Given the description of an element on the screen output the (x, y) to click on. 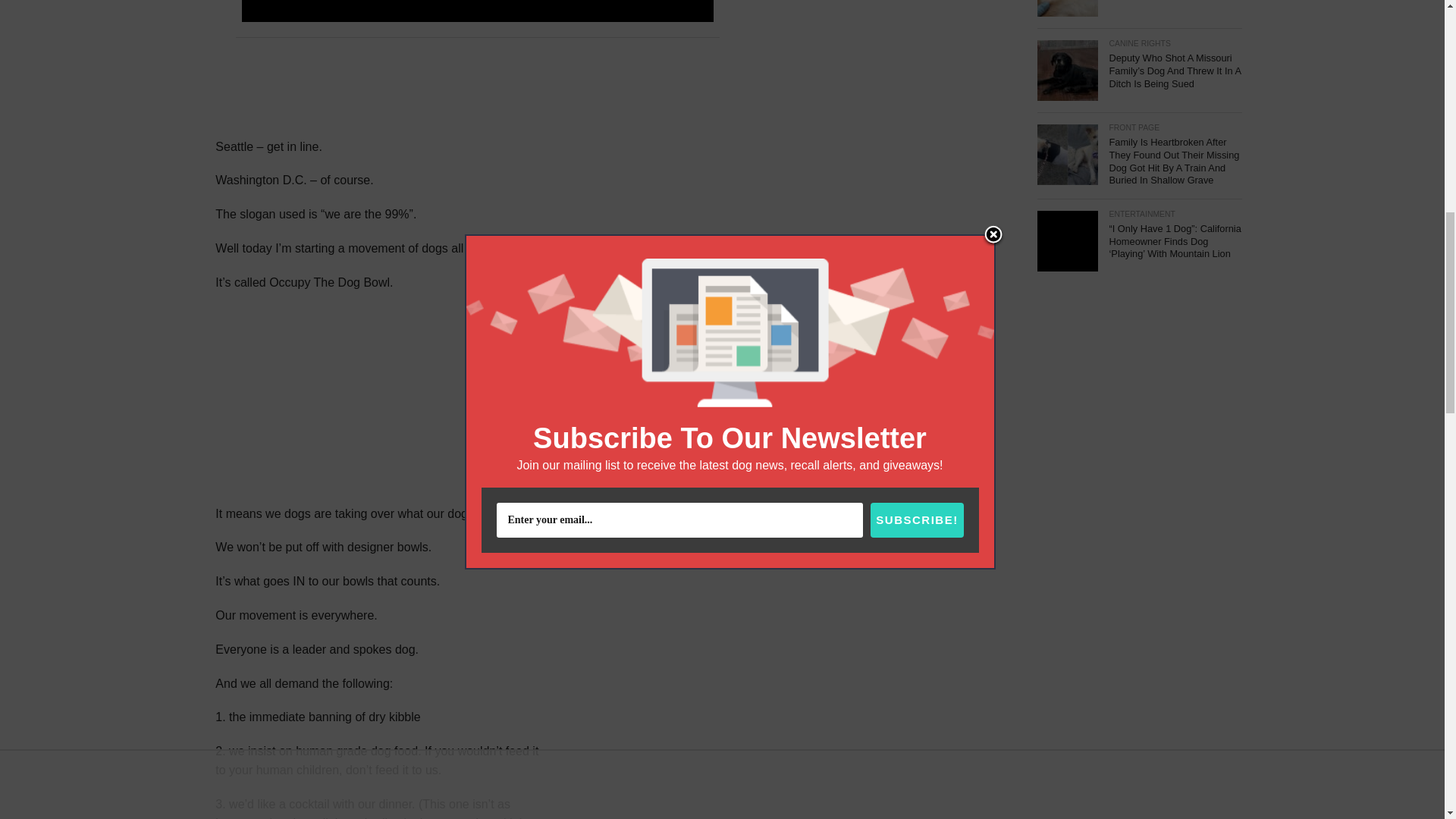
Dogandbowl (645, 733)
